Given the description of an element on the screen output the (x, y) to click on. 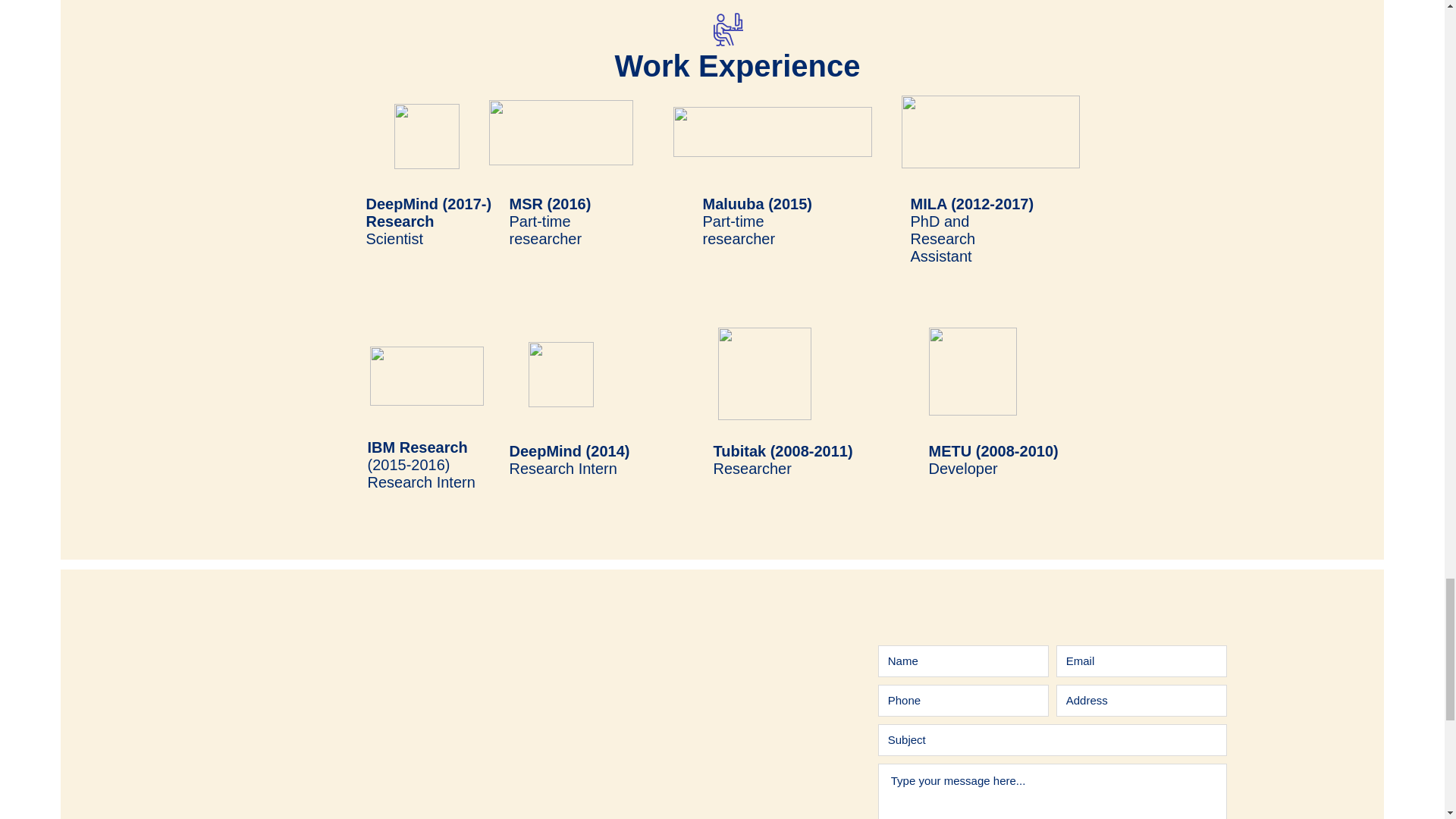
mila-purple.png (989, 131)
tubitak.png (763, 373)
ibm-research-logo.jpeg (426, 375)
